Given the description of an element on the screen output the (x, y) to click on. 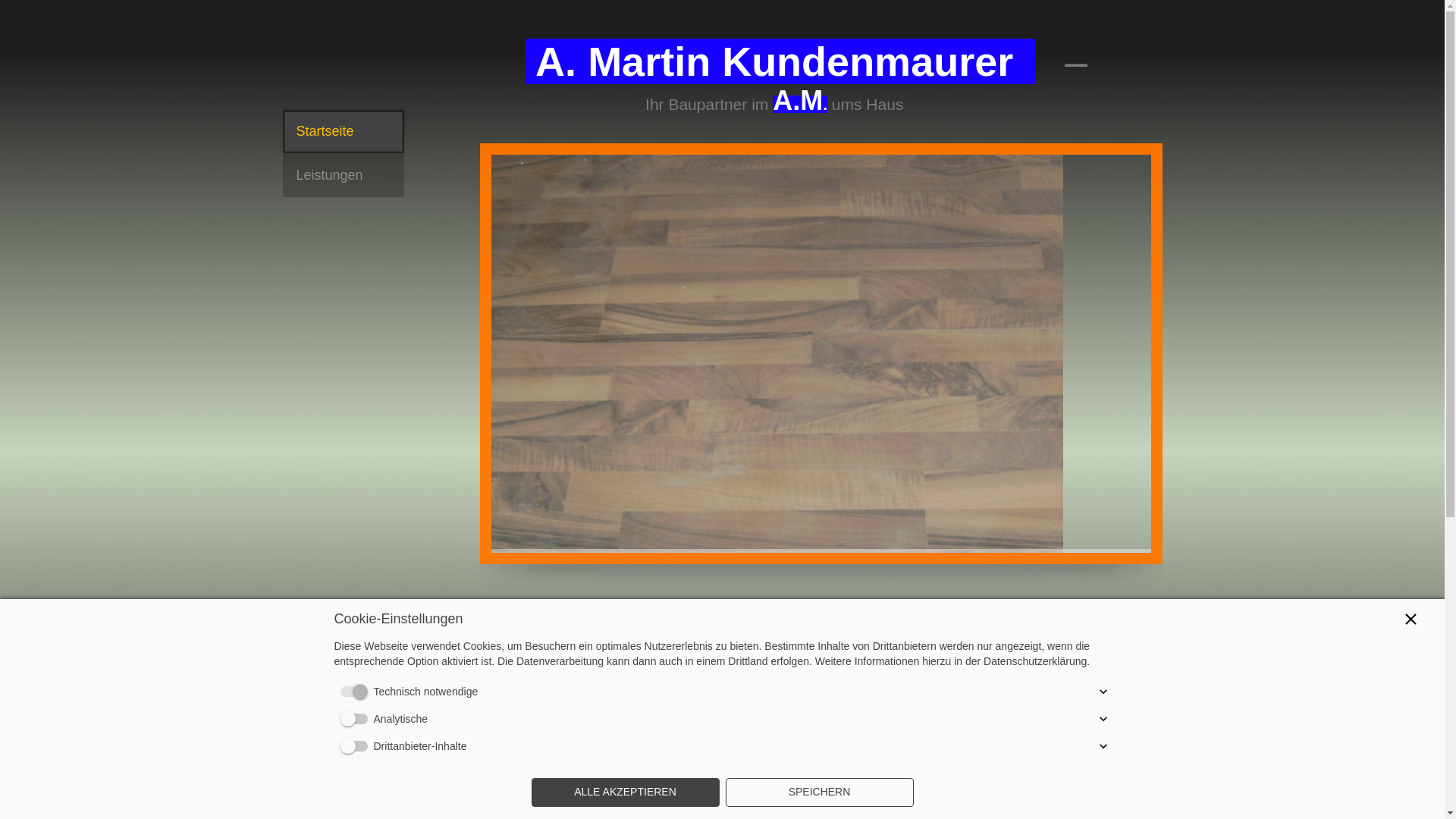
SPEICHERN Element type: text (818, 792)
ALLE AKZEPTIEREN Element type: text (624, 792)
Leistungen Element type: text (342, 175)
Startseite Element type: text (342, 131)
